Given the description of an element on the screen output the (x, y) to click on. 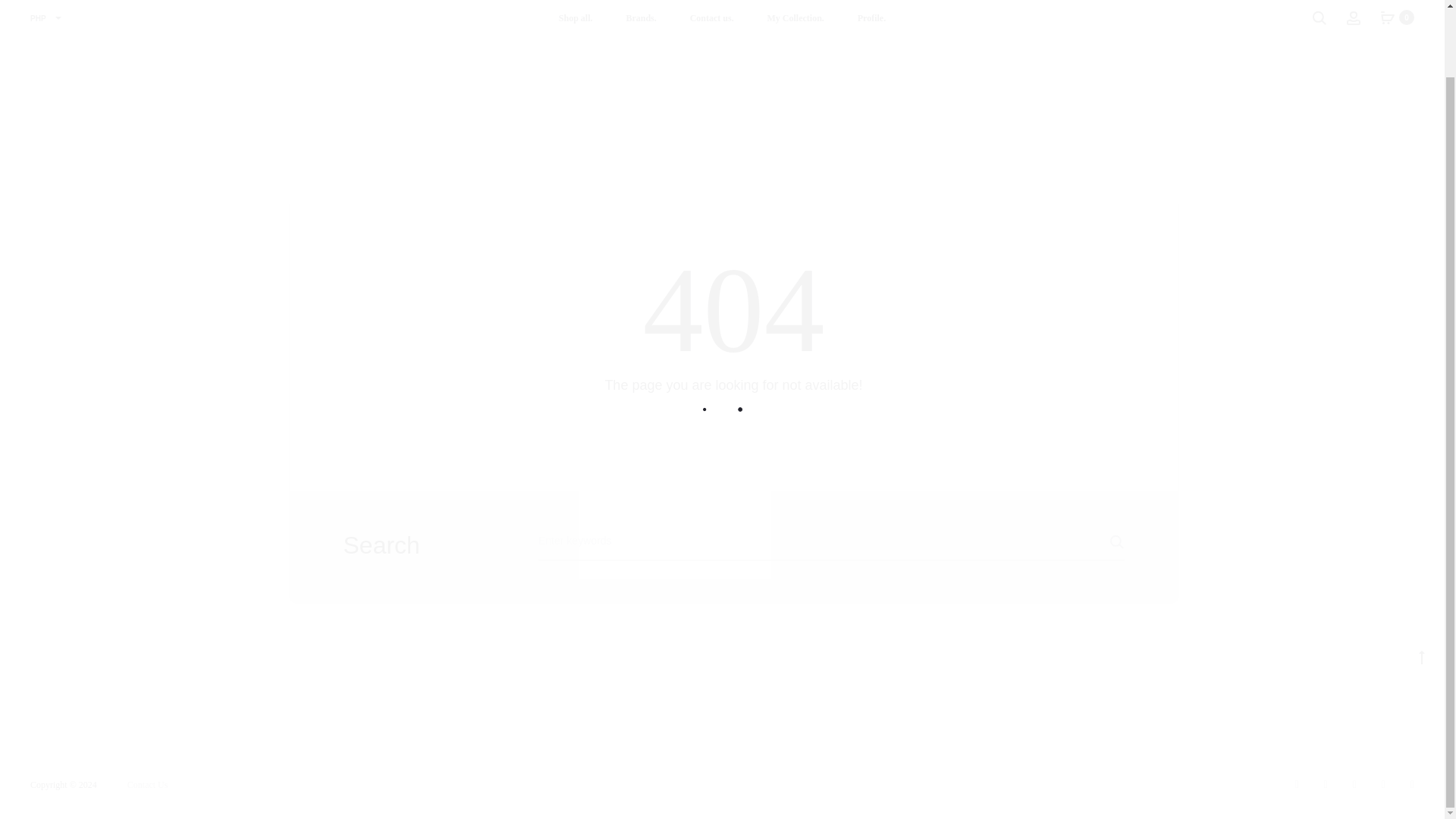
Contact Us (148, 784)
Contact us. (711, 18)
Account (1353, 17)
Brands. (641, 18)
My Collection. (795, 18)
Search (1318, 17)
0 (1387, 17)
Search (1086, 541)
Profile. (871, 18)
Shop all. (575, 18)
